Given the description of an element on the screen output the (x, y) to click on. 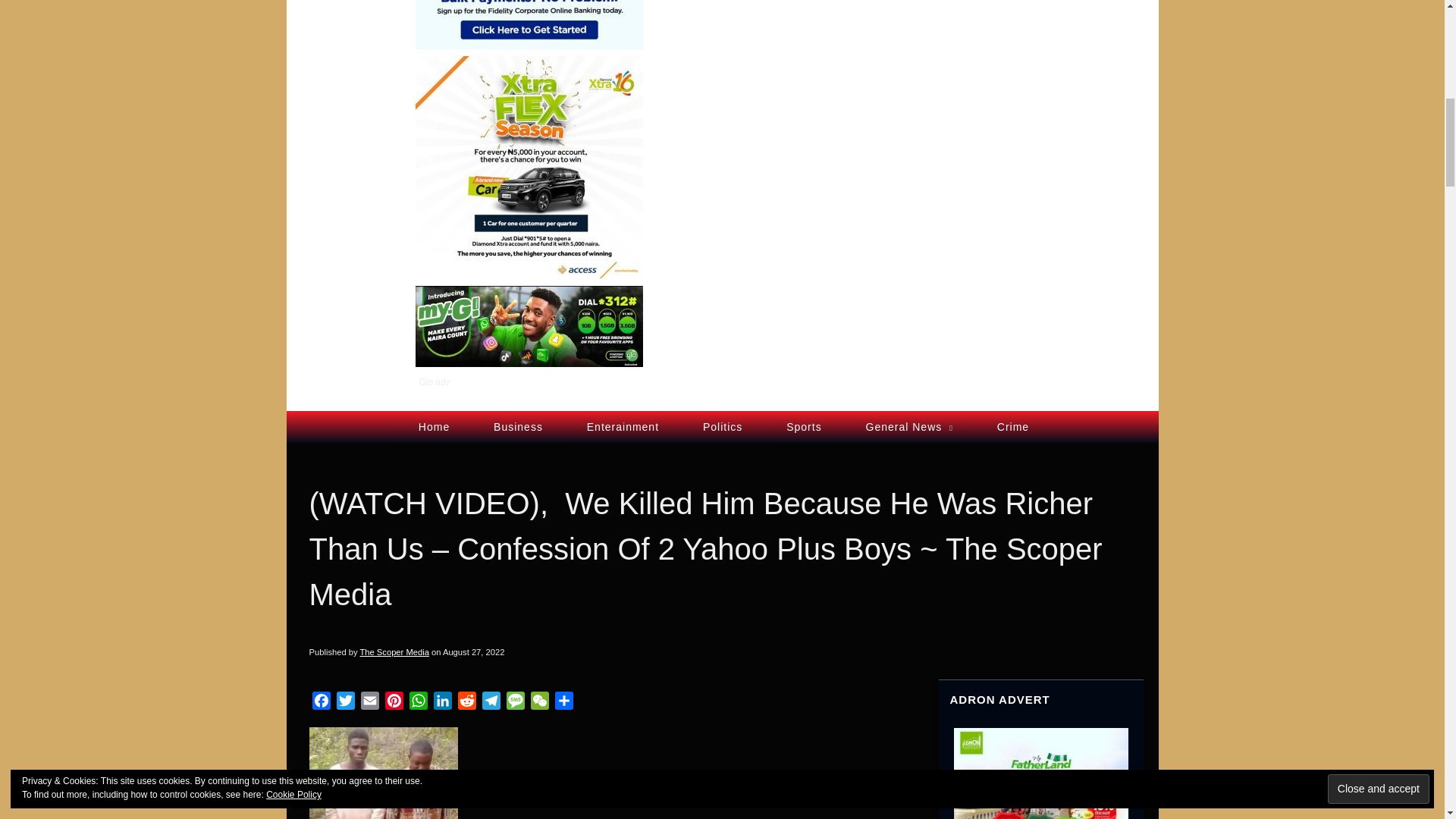
Sports (804, 426)
Facebook (320, 702)
General News (909, 426)
Email (369, 702)
WeChat (539, 702)
LinkedIn (442, 702)
Pinterest (393, 702)
Facebook (320, 702)
Message (515, 702)
Twitter (345, 702)
